Given the description of an element on the screen output the (x, y) to click on. 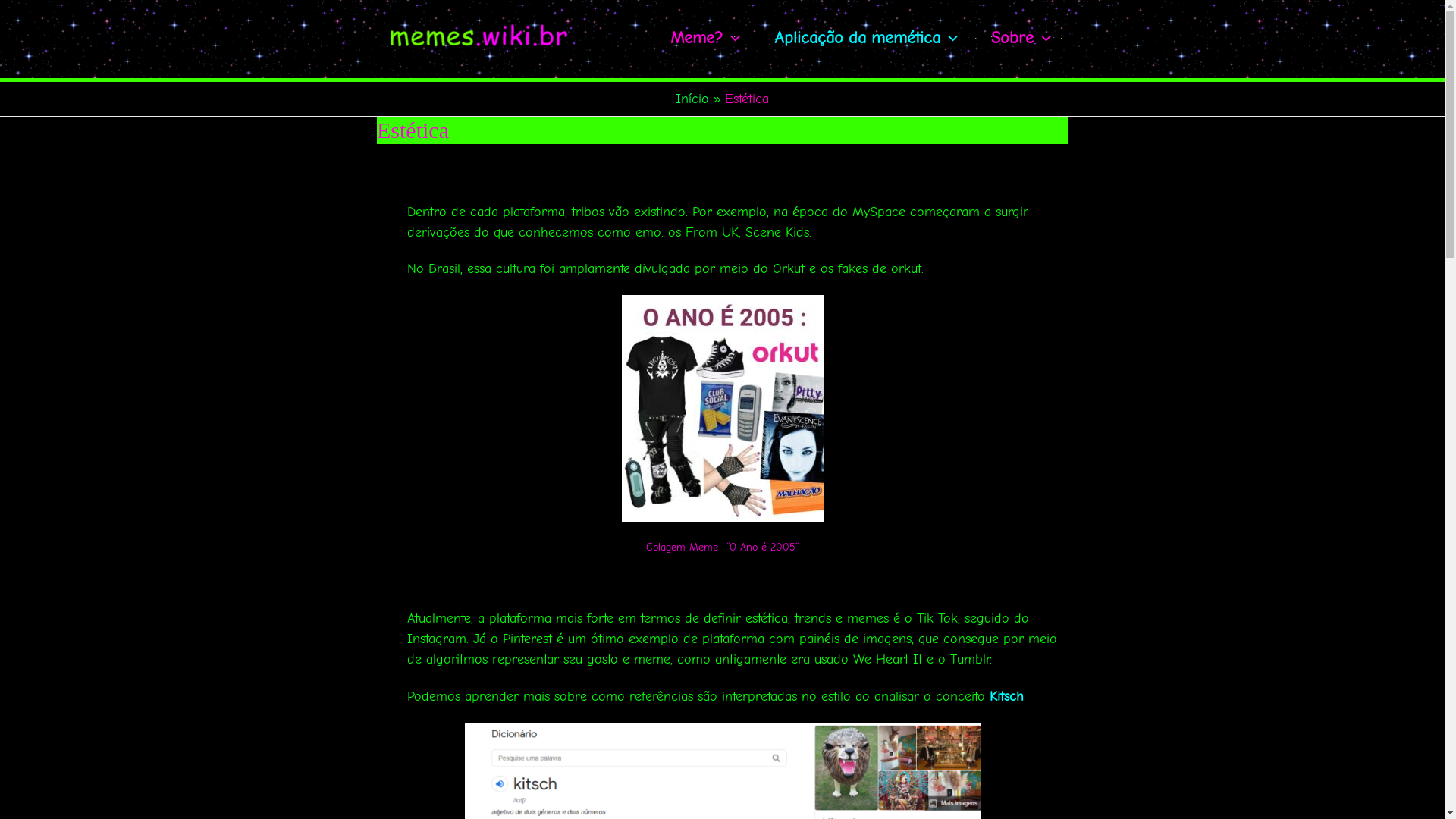
Sobre Element type: text (1020, 38)
Meme? Element type: text (704, 38)
